Given the description of an element on the screen output the (x, y) to click on. 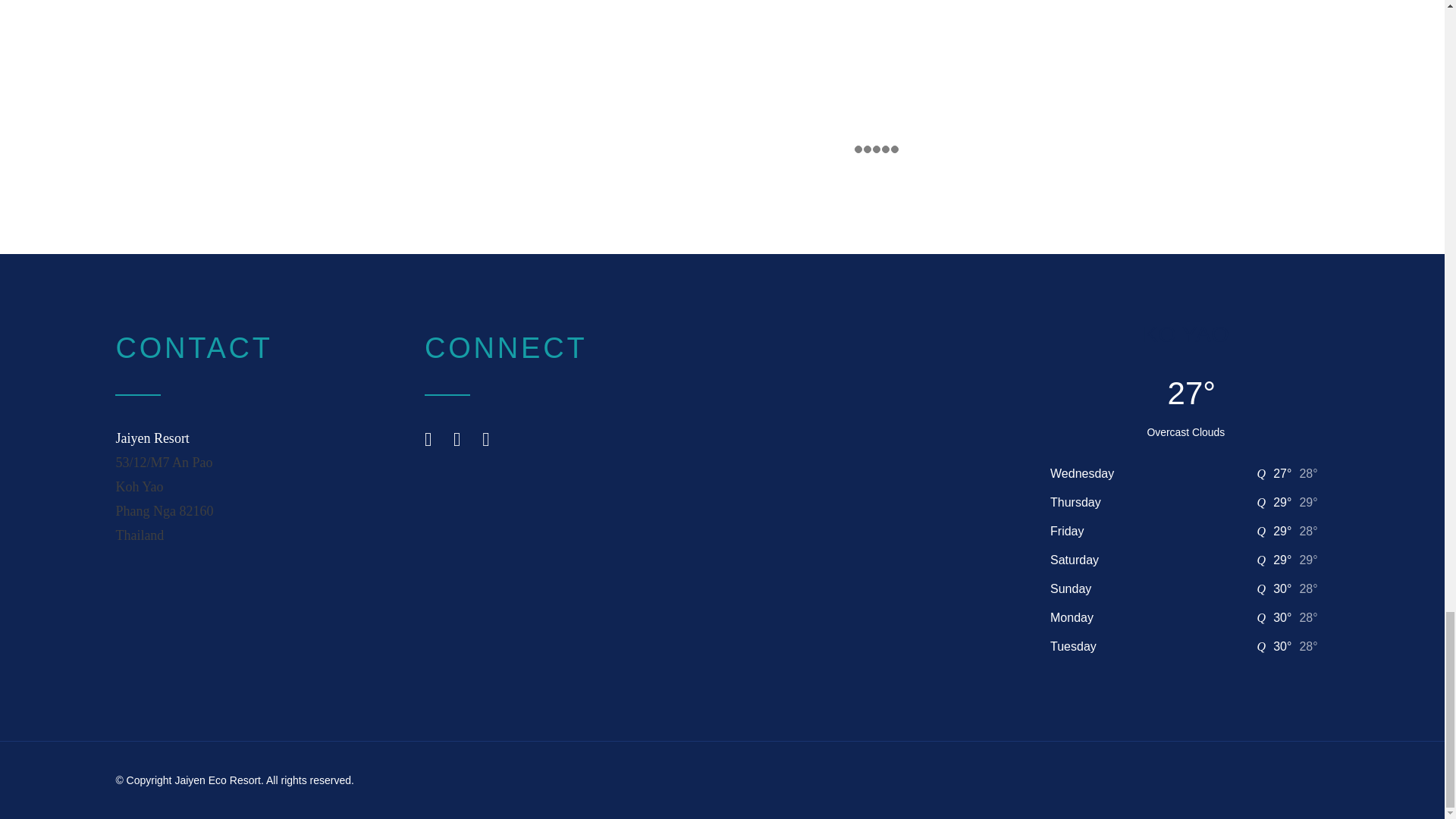
Jaiyen Resort (152, 437)
